Given the description of an element on the screen output the (x, y) to click on. 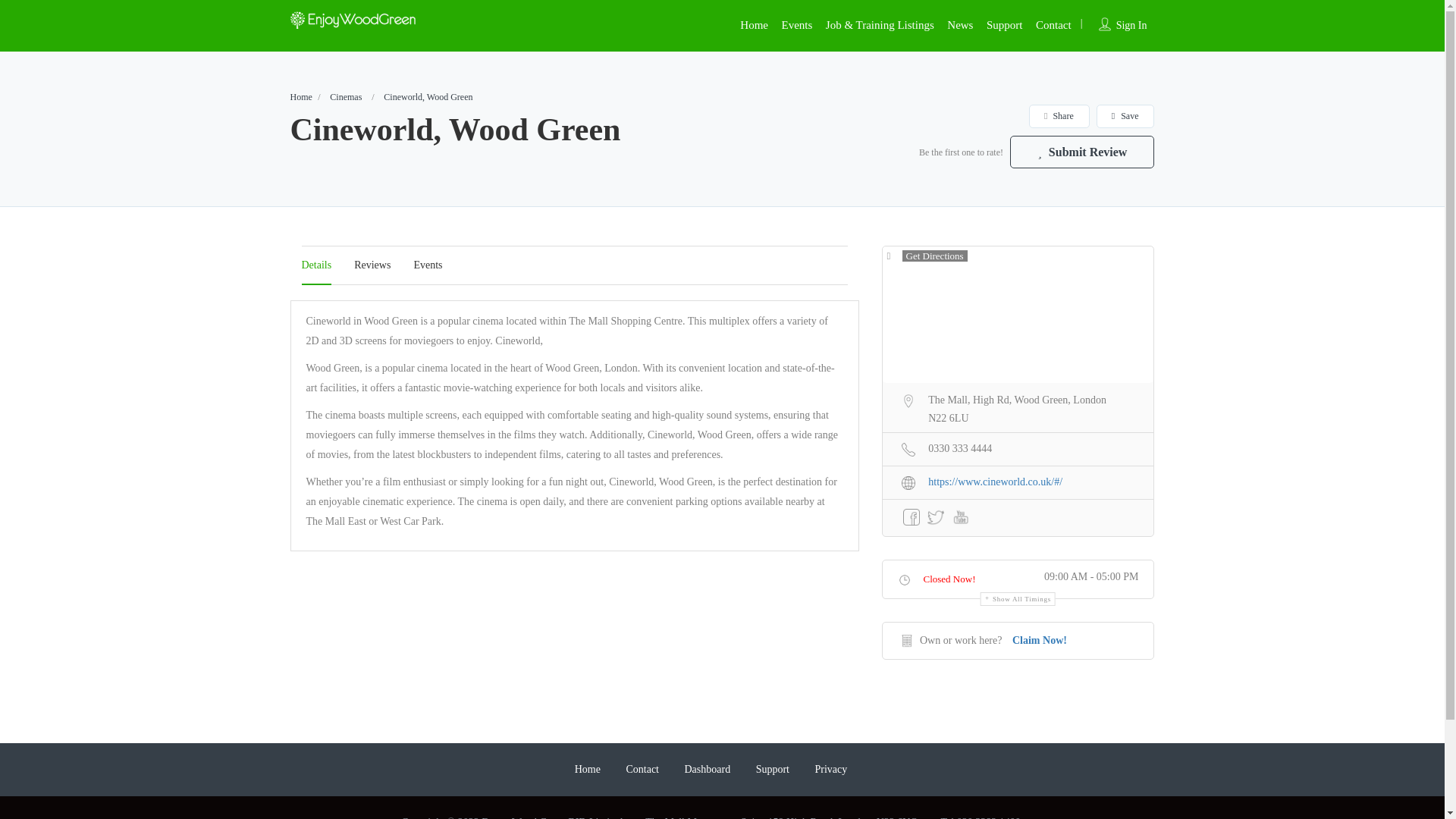
Home (300, 96)
News (959, 24)
Contact (1053, 24)
Cinemas (345, 96)
Save (1125, 116)
Support (1005, 24)
Submit (413, 502)
Home (753, 24)
Sign In (1131, 25)
Events (796, 24)
Share (1058, 116)
